Given the description of an element on the screen output the (x, y) to click on. 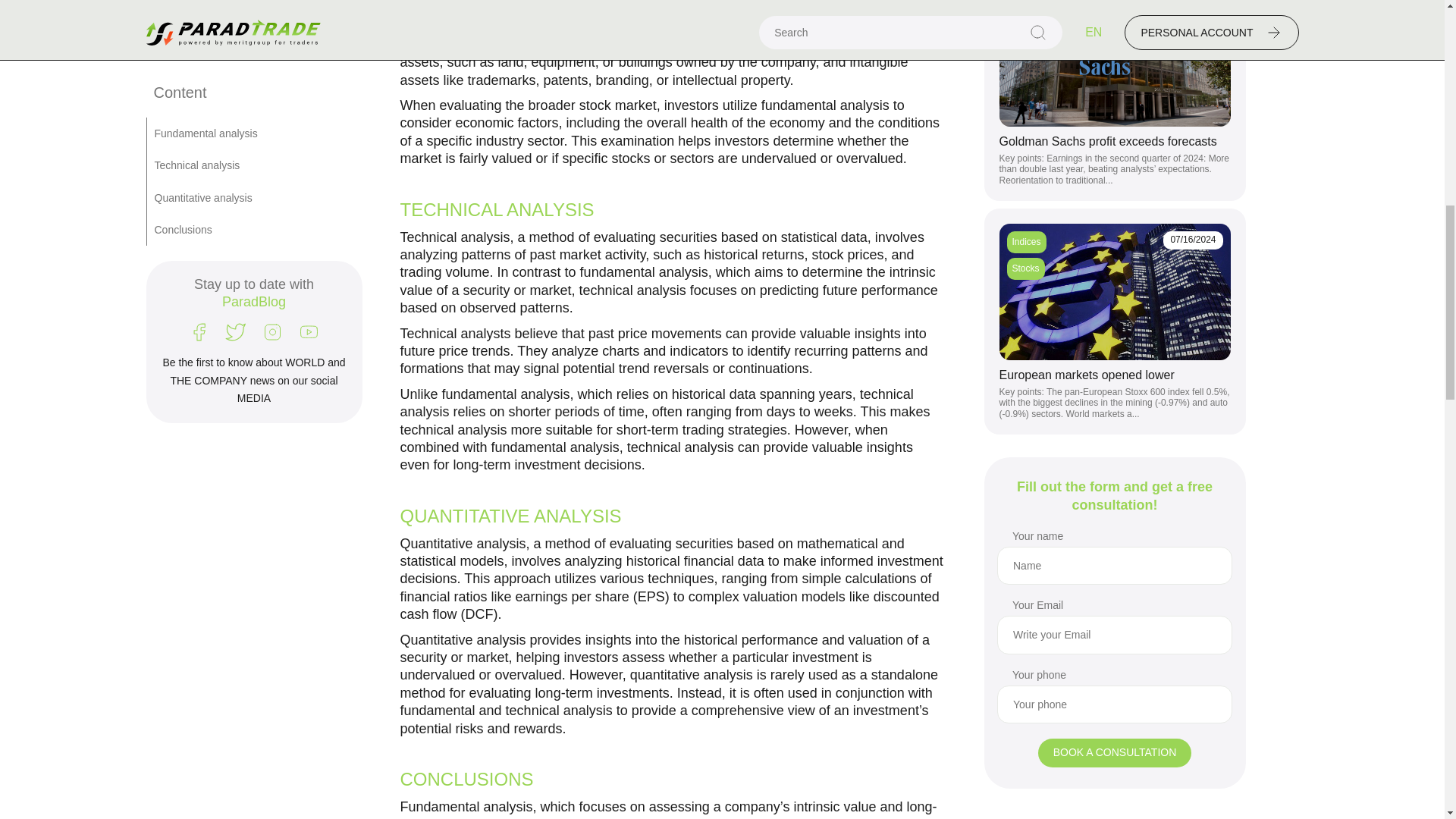
BOOK A CONSULTATION (1115, 659)
TECHNICAL ANALYSIS (497, 209)
